Given the description of an element on the screen output the (x, y) to click on. 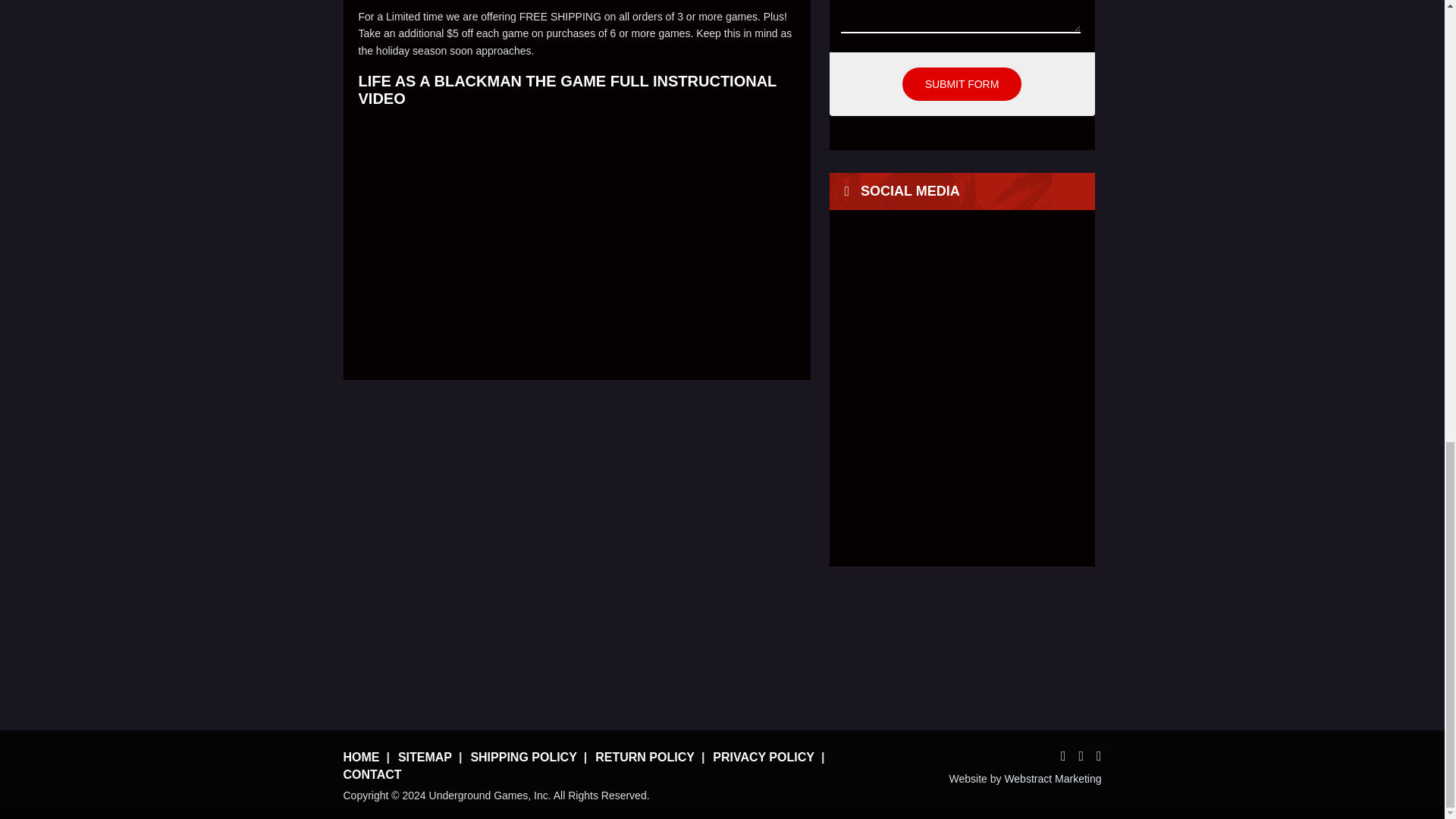
CONTACT (371, 774)
Submit Form (962, 83)
HOME (360, 757)
PRIVACY POLICY (763, 757)
SHIPPING POLICY (523, 757)
SITEMAP (424, 757)
Store (943, 645)
Website Design Los Angeles CA (1052, 778)
RETURN POLICY (644, 757)
Submit Form (962, 83)
Message (960, 16)
